Given the description of an element on the screen output the (x, y) to click on. 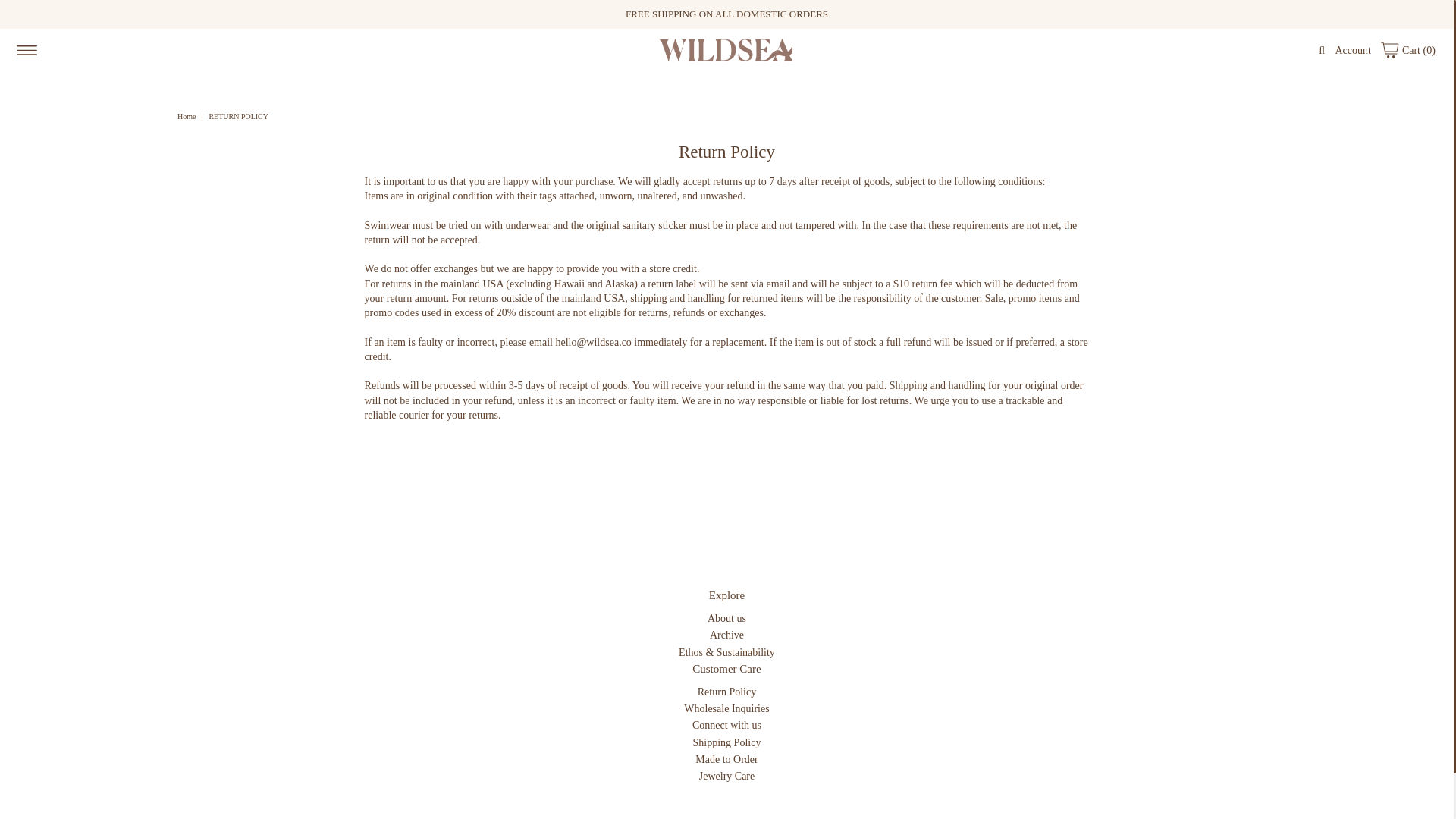
About us (726, 618)
Account (1352, 50)
Wholesale Inquiries (726, 708)
Jewelry Care (726, 776)
Home (188, 116)
Return Policy (726, 691)
Home (188, 116)
Made to Order (726, 758)
Archive (727, 634)
Connect with us (727, 725)
Shipping Policy (727, 742)
